Given the description of an element on the screen output the (x, y) to click on. 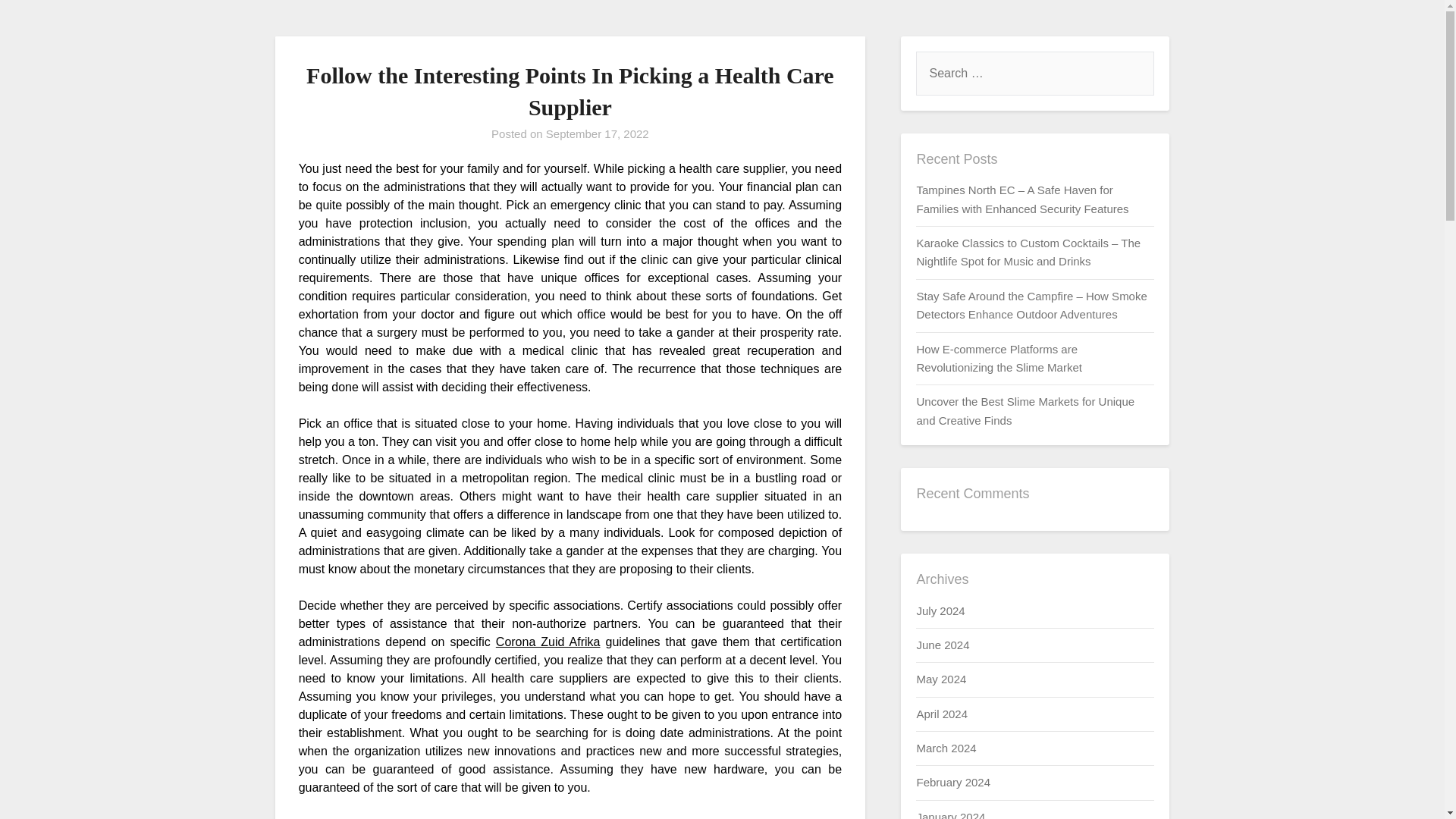
Corona Zuid Afrika (547, 641)
Uncover the Best Slime Markets for Unique and Creative Finds (1024, 409)
July 2024 (939, 609)
April 2024 (941, 713)
September 17, 2022 (597, 133)
February 2024 (952, 781)
Search (37, 22)
May 2024 (940, 678)
March 2024 (945, 748)
June 2024 (942, 644)
January 2024 (950, 814)
